Given the description of an element on the screen output the (x, y) to click on. 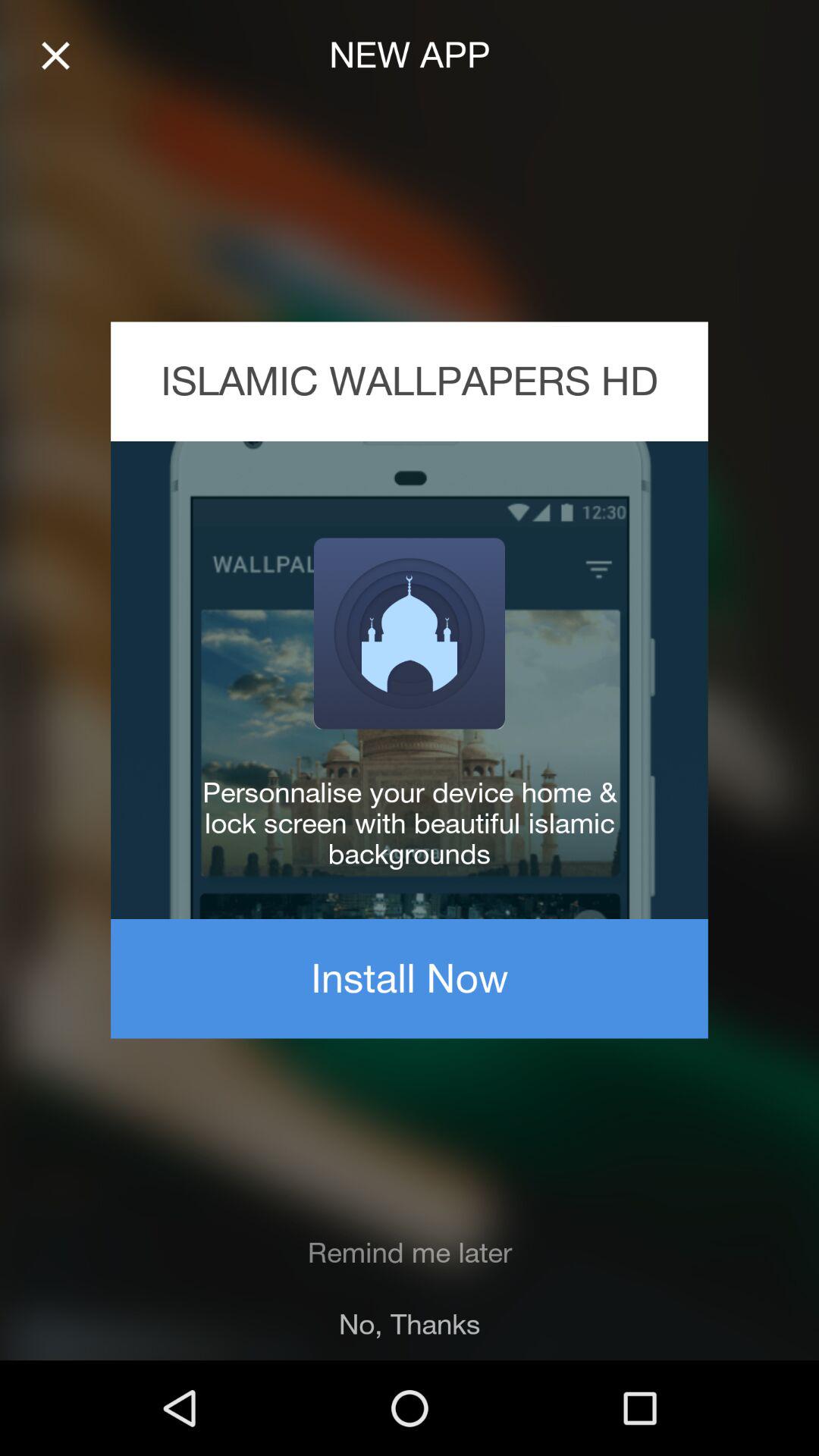
choose icon above the islamic wallpapers hd icon (55, 55)
